Given the description of an element on the screen output the (x, y) to click on. 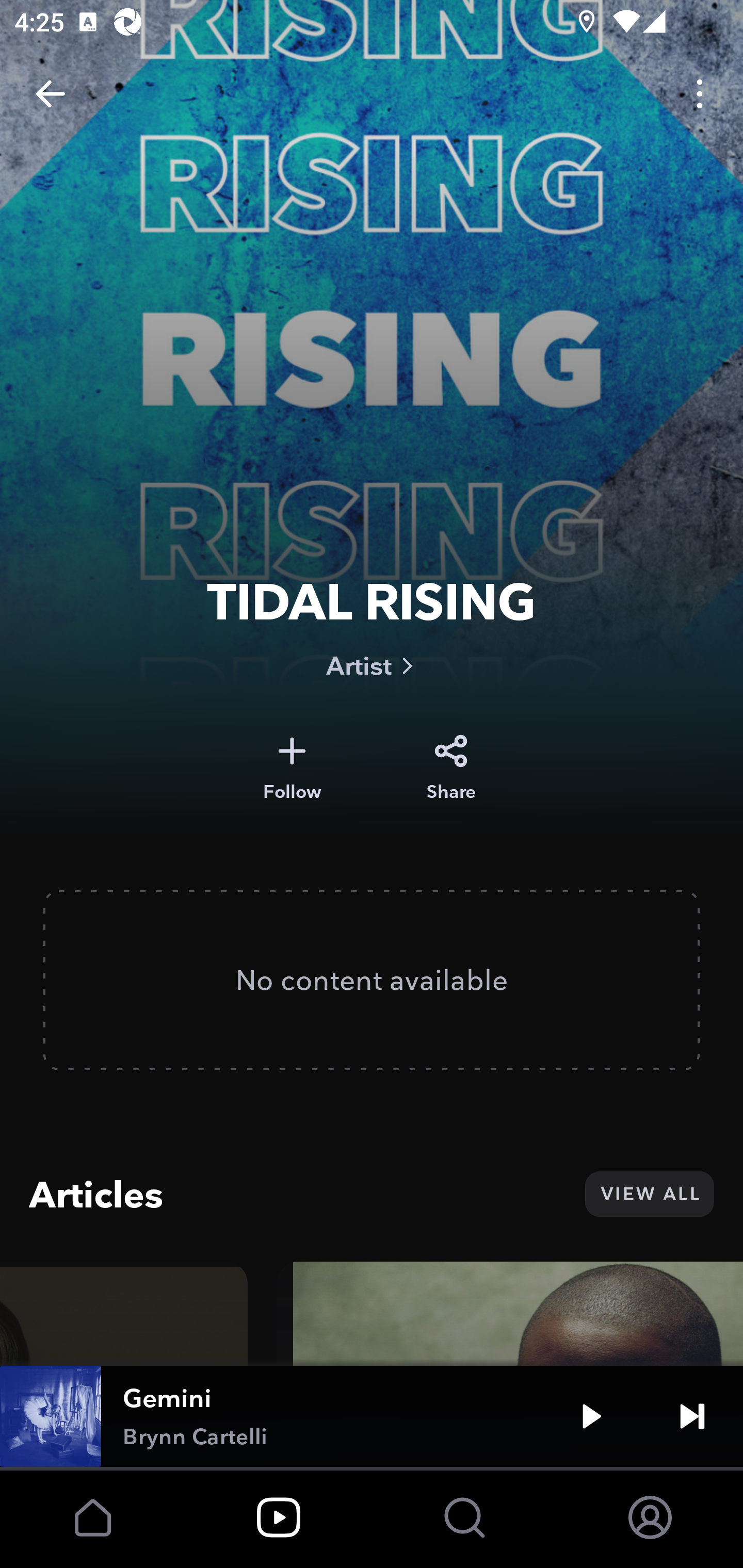
Options (699, 93)
Artist (371, 665)
Follow (291, 767)
Share (450, 767)
VIEW ALL (649, 1193)
Gemini Brynn Cartelli Play (371, 1416)
Play (590, 1416)
